Given the description of an element on the screen output the (x, y) to click on. 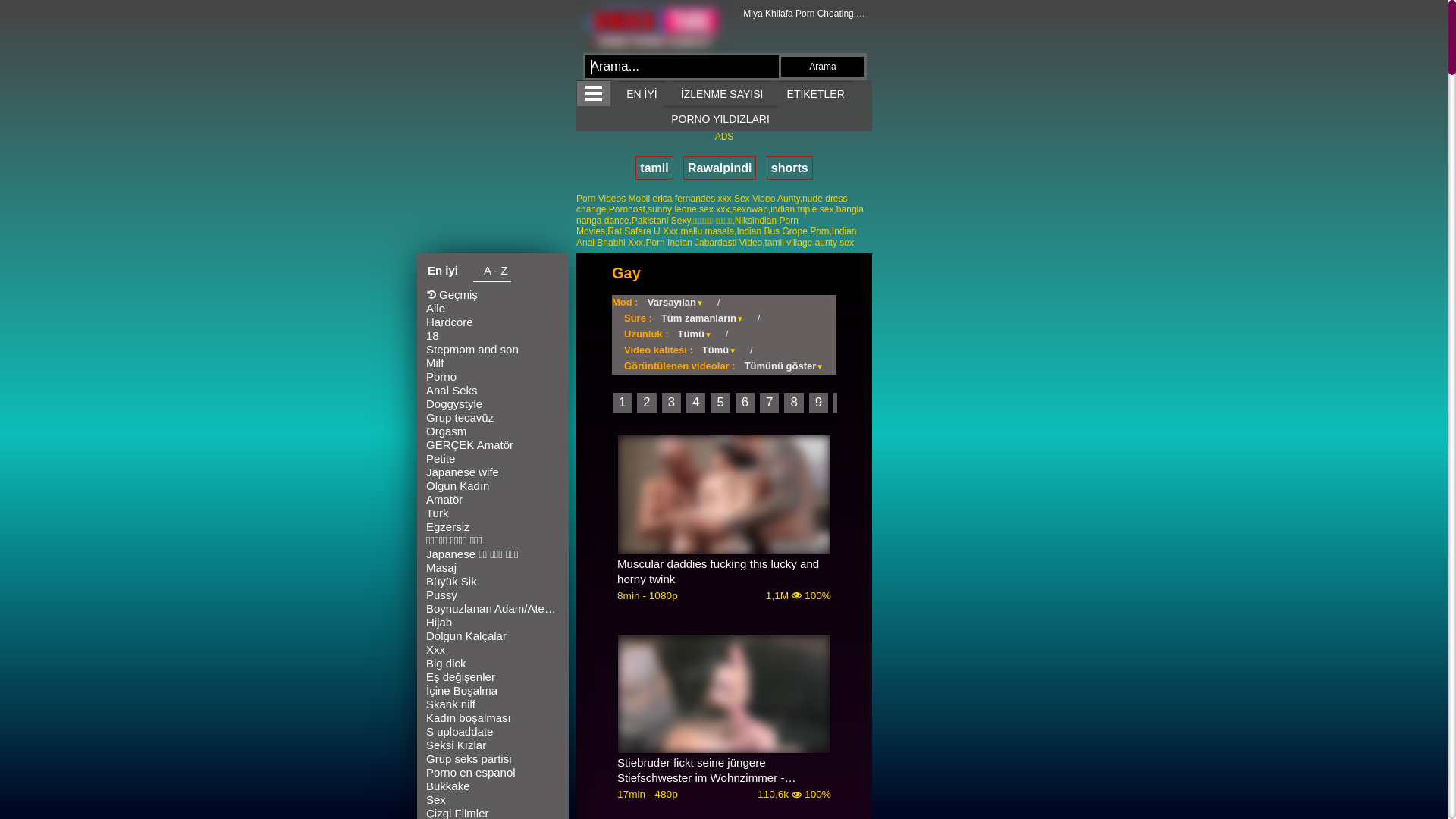
Aile Element type: text (492, 308)
5 Element type: text (719, 402)
Bukkake Element type: text (492, 786)
8 Element type: text (793, 402)
Sex Element type: text (492, 799)
Hijab Element type: text (492, 622)
7 Element type: text (769, 402)
PORNO YILDIZLARI Element type: text (720, 118)
3 Element type: text (671, 402)
Egzersiz Element type: text (492, 526)
Stepmom and son Element type: text (492, 349)
6 Element type: text (744, 402)
Anal Seks Element type: text (492, 390)
shorts Element type: text (789, 167)
Big dick Element type: text (492, 663)
10 Element type: text (846, 402)
A - Z Element type: text (492, 272)
Japanese wife Element type: text (492, 472)
Turk Element type: text (492, 513)
Hardcore Element type: text (492, 322)
2 Element type: text (646, 402)
Muscular daddies fucking this lucky and horny twink Element type: text (724, 571)
Masaj Element type: text (492, 567)
1 Element type: text (621, 402)
Orgasm Element type: text (492, 431)
Milf Element type: text (492, 363)
Rawalpindi Element type: text (719, 167)
Arama Element type: text (822, 66)
9 Element type: text (818, 402)
Xxx Element type: text (492, 649)
S uploaddate Element type: text (492, 731)
Grup seks partisi Element type: text (492, 758)
tamil Element type: text (653, 167)
Porno Element type: text (492, 376)
Skank nilf Element type: text (492, 704)
Petite Element type: text (492, 458)
ETIKETLER Element type: text (815, 93)
Porno en espanol Element type: text (492, 772)
En iyi Element type: text (442, 271)
4 Element type: text (695, 402)
Doggystyle Element type: text (492, 404)
Pussy Element type: text (492, 595)
18 Element type: text (492, 335)
